Given the description of an element on the screen output the (x, y) to click on. 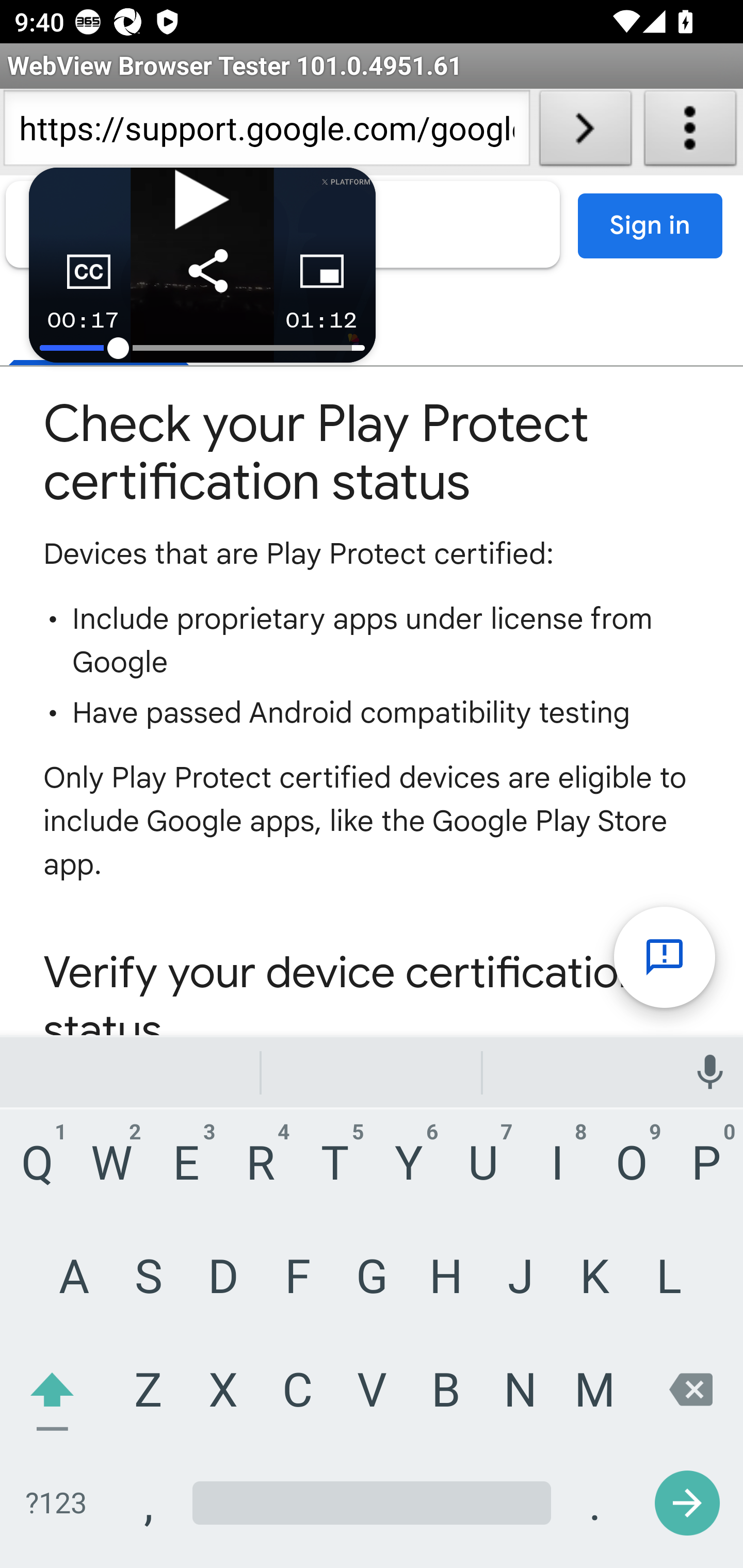
Load URL (585, 132)
About WebView (690, 132)
Sign in (650, 226)
